Given the description of an element on the screen output the (x, y) to click on. 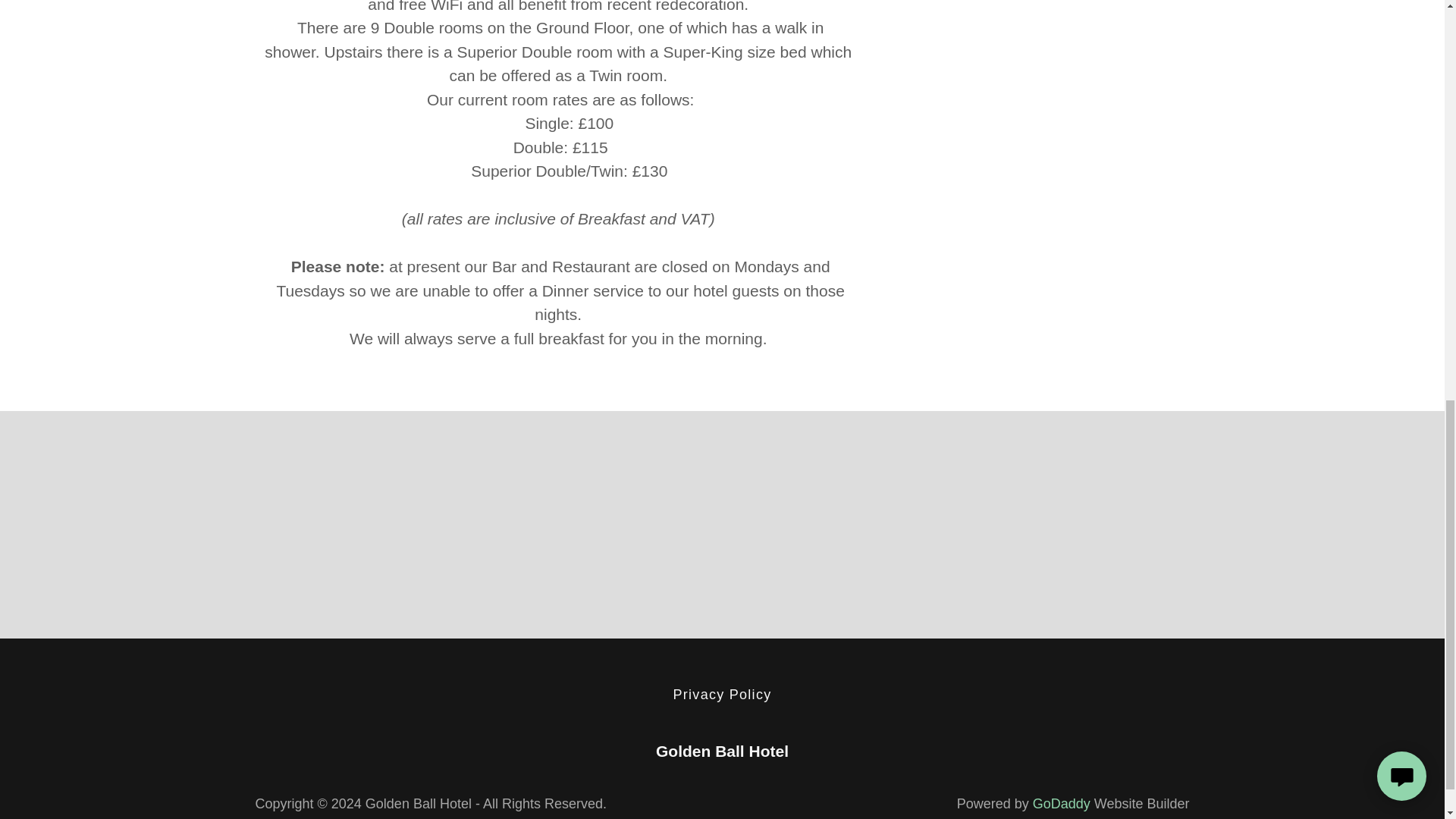
GoDaddy (1061, 803)
Privacy Policy (721, 694)
